Given the description of an element on the screen output the (x, y) to click on. 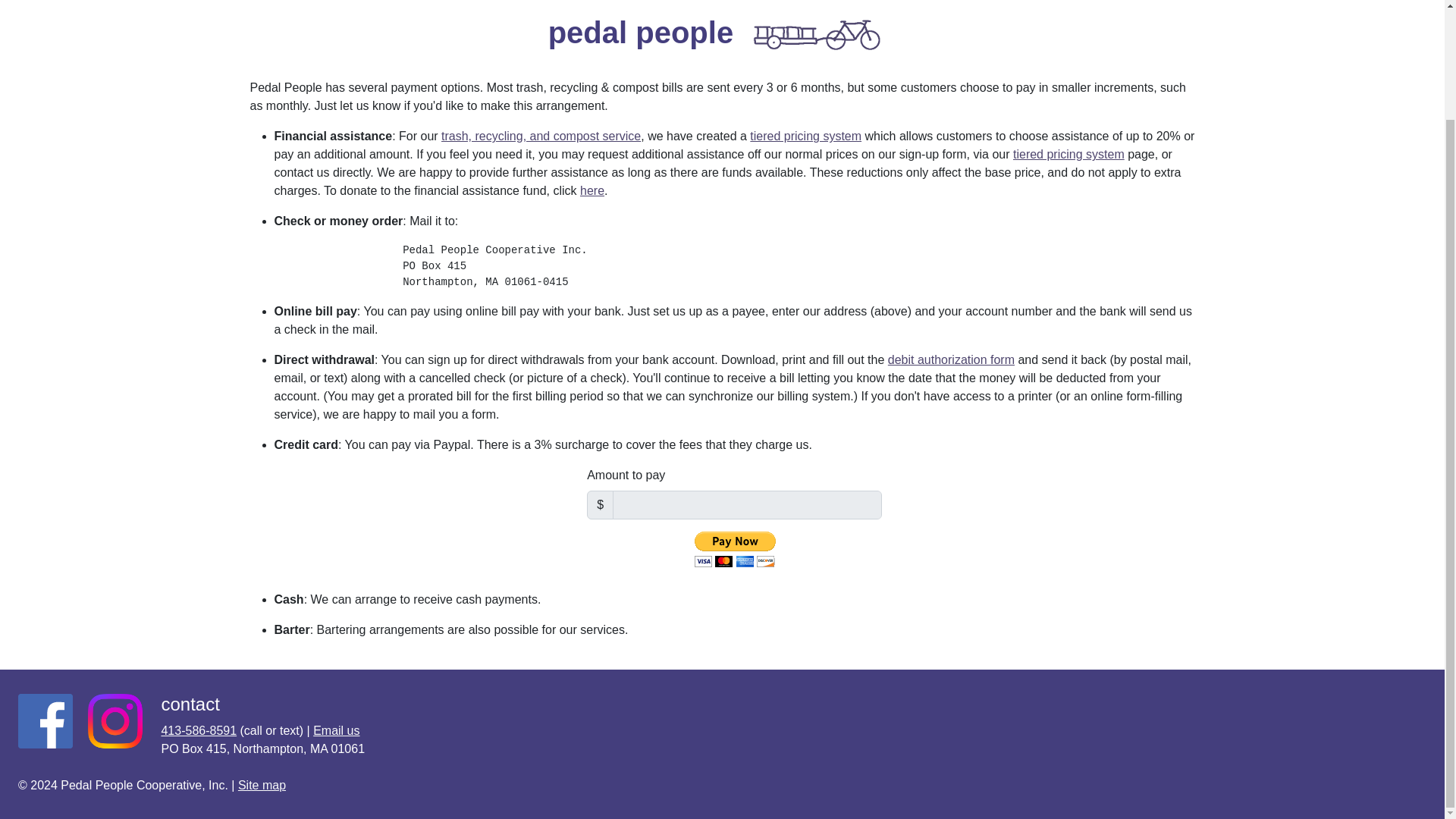
tiered pricing system (1068, 154)
Pedal People on Facebook (44, 720)
tiered pricing system (805, 135)
413-586-8591 (197, 730)
Pedal People on Instagram (114, 720)
Site map (261, 784)
debit authorization form (951, 359)
here (591, 190)
Email us (336, 730)
trash, recycling, and compost service (540, 135)
